Given the description of an element on the screen output the (x, y) to click on. 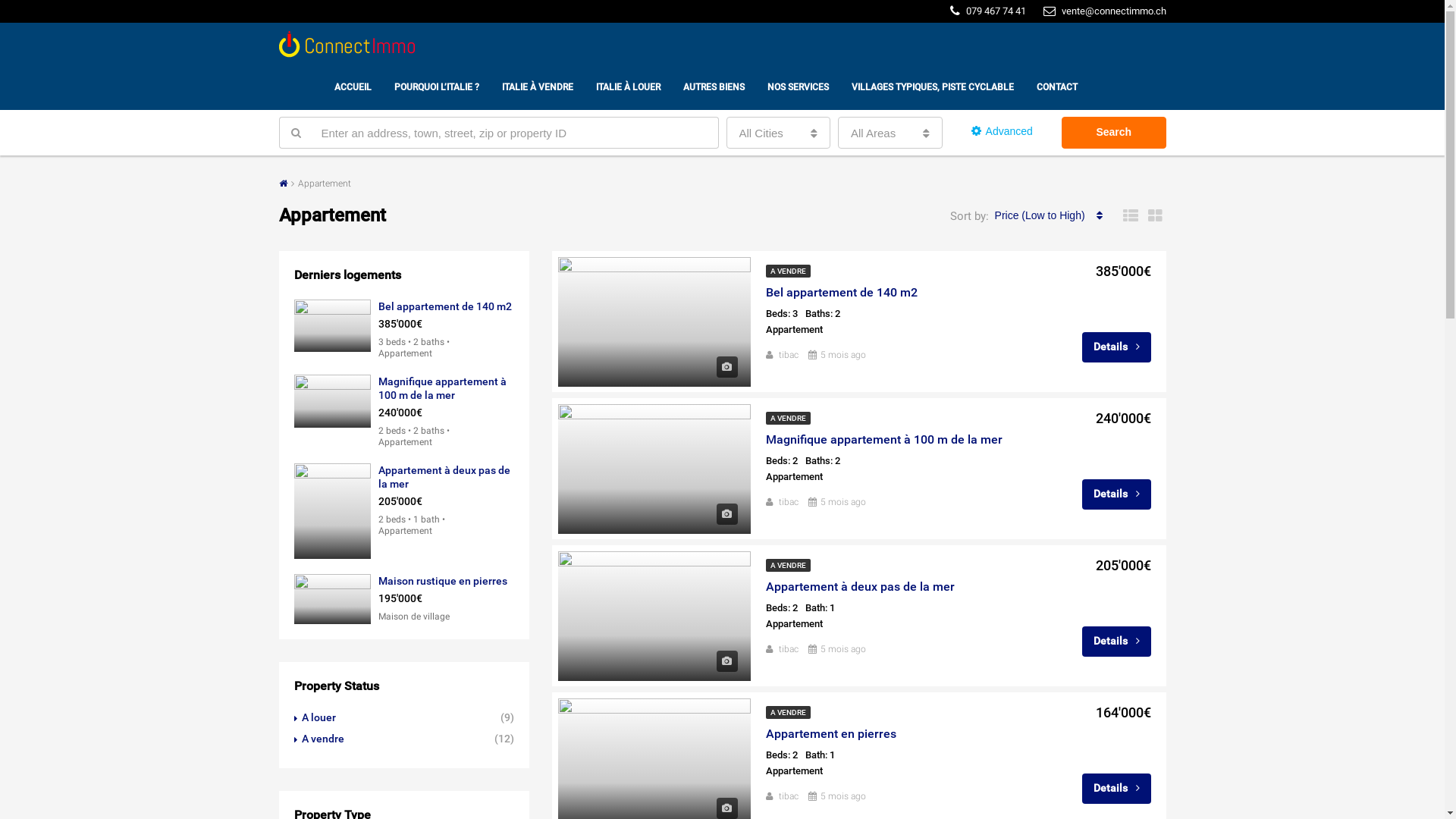
tibac Element type: text (787, 354)
Maison rustique en pierres Element type: text (441, 580)
Details Element type: text (1115, 494)
NOS SERVICES Element type: text (798, 86)
Details Element type: text (1115, 641)
(9) Photos Element type: hover (726, 513)
All Areas
  Element type: text (889, 132)
Appartement en pierres Element type: text (830, 733)
A vendre Element type: text (319, 738)
CONTACT Element type: text (1056, 86)
ACCUEIL Element type: text (352, 86)
tibac Element type: text (787, 795)
vente@connectimmo.ch Element type: text (1104, 10)
tibac Element type: text (787, 648)
Details Element type: text (1115, 347)
Price (Low to High)
  Element type: text (1049, 215)
tibac Element type: text (787, 501)
VILLAGES TYPIQUES, PISTE CYCLABLE Element type: text (932, 86)
(7) Photos Element type: hover (726, 366)
079 467 74 41 Element type: text (987, 10)
AUTRES BIENS Element type: text (713, 86)
Bel appartement de 140 m2 Element type: text (841, 292)
Advanced Element type: text (1001, 131)
Details Element type: text (1115, 788)
Search Element type: text (1113, 132)
All Cities
  Element type: text (778, 132)
(9) Photos Element type: hover (726, 660)
A louer Element type: text (314, 717)
Bel appartement de 140 m2 Element type: text (444, 306)
